Given the description of an element on the screen output the (x, y) to click on. 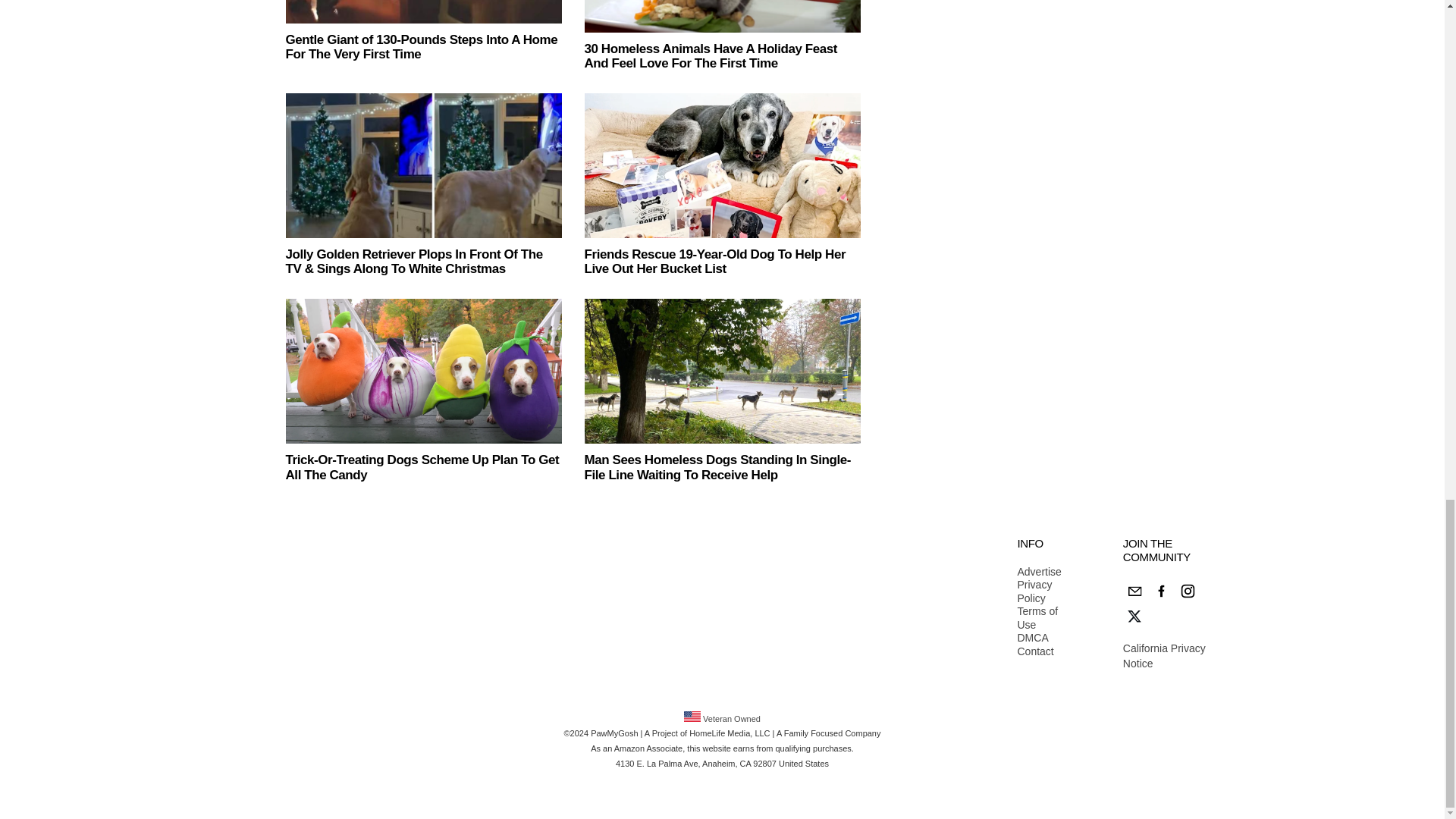
Terms of Use (1041, 618)
Contact (1041, 652)
California Privacy Notice (1163, 655)
DMCA (1041, 638)
HomeLife Media, LLC (729, 732)
Advertise (1041, 572)
Trick-Or-Treating Dogs Scheme Up Plan To Get All The Candy (422, 466)
Privacy Policy (1041, 591)
Trick-Or-Treating Dogs Scheme Up Plan To Get All The Candy (422, 370)
